Given the description of an element on the screen output the (x, y) to click on. 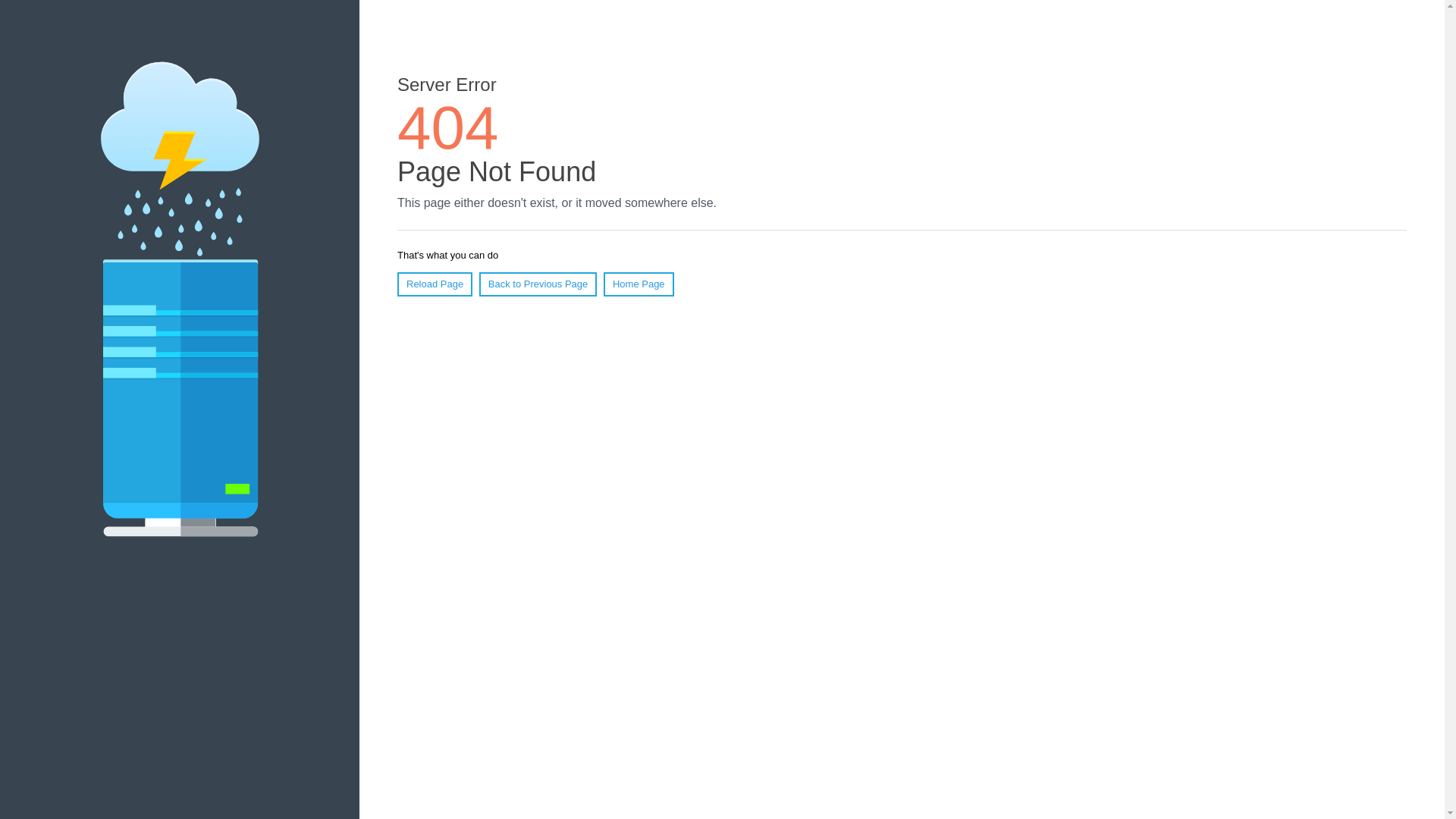
Back to Previous Page Element type: text (538, 284)
Home Page Element type: text (638, 284)
Reload Page Element type: text (434, 284)
